Given the description of an element on the screen output the (x, y) to click on. 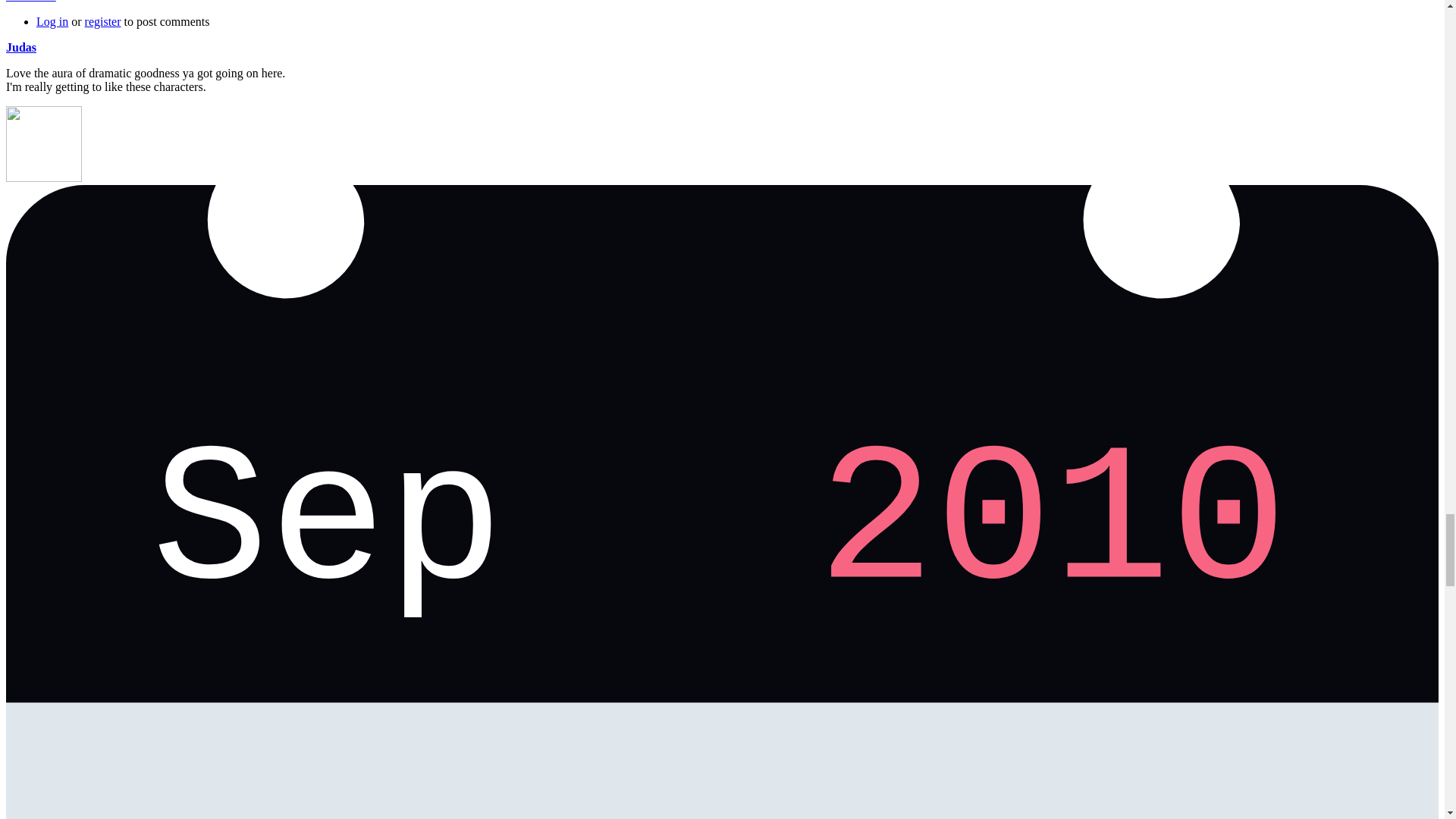
Judas (20, 47)
Permalink (30, 1)
Log in (52, 21)
View user profile. (20, 47)
register (102, 21)
